Given the description of an element on the screen output the (x, y) to click on. 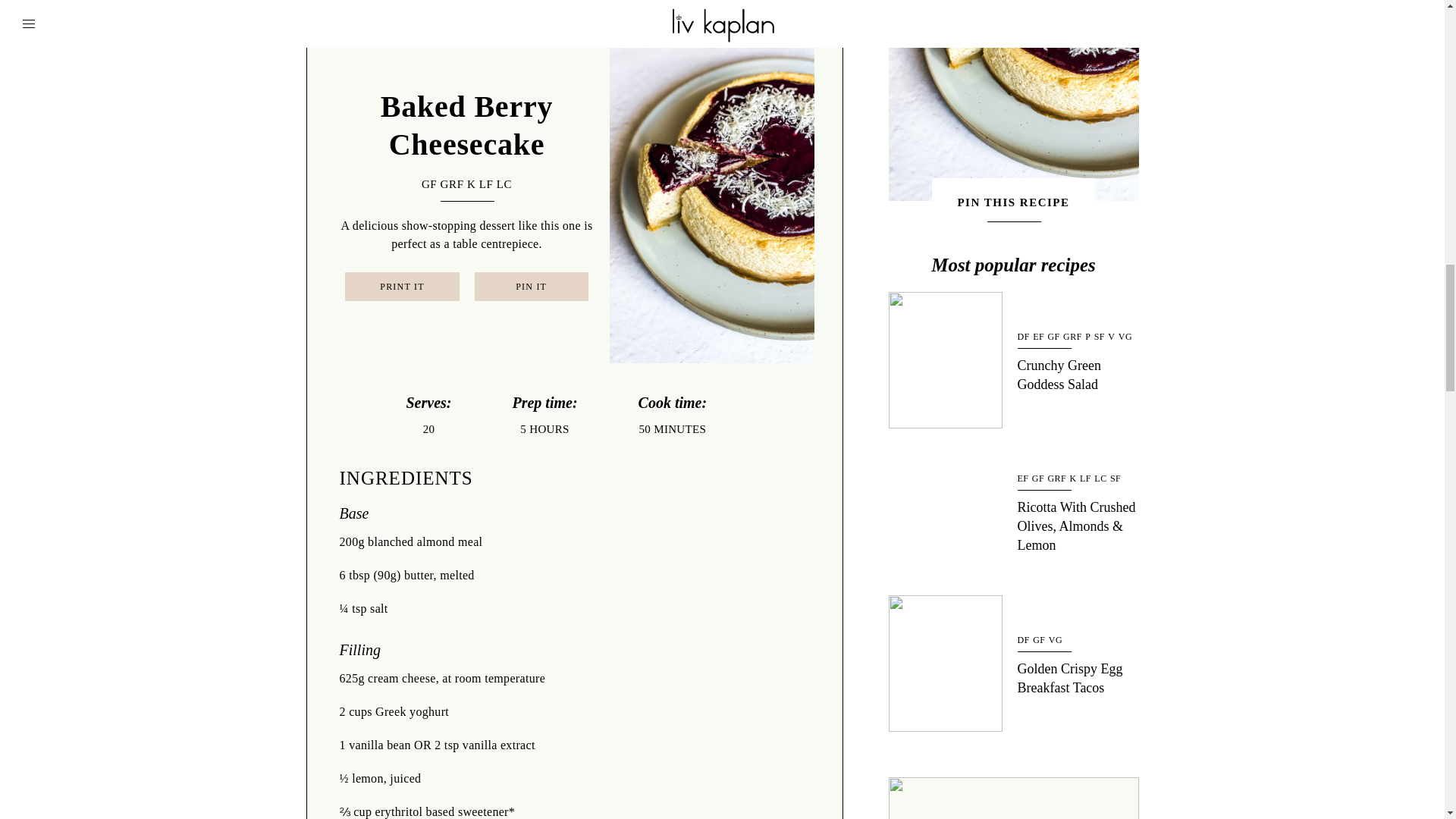
PRINT IT (401, 286)
LF (486, 184)
GRF (452, 184)
GF (429, 184)
LC (504, 184)
PIN IT (531, 286)
